Given the description of an element on the screen output the (x, y) to click on. 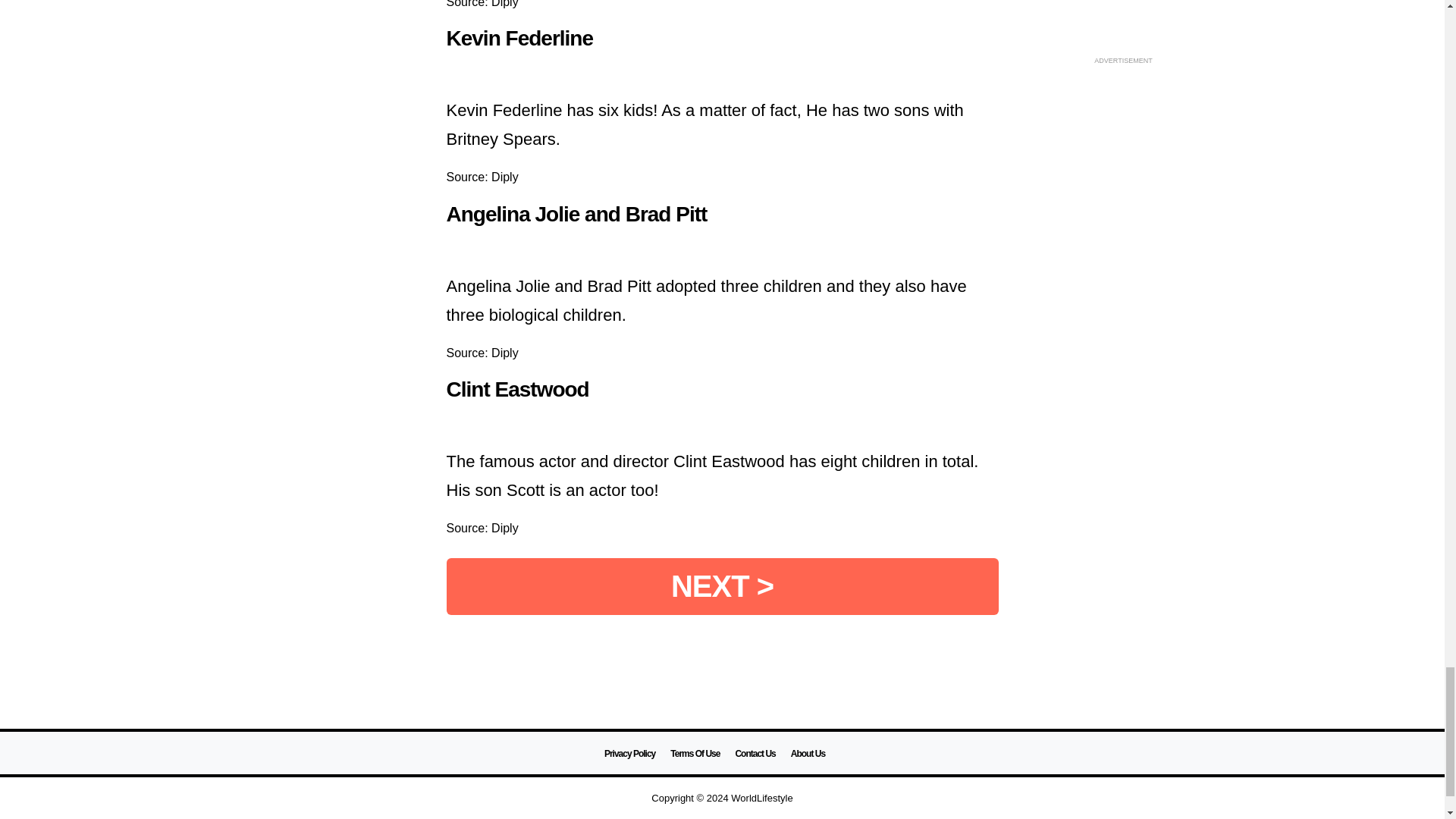
Privacy Policy (629, 753)
About Us (807, 753)
Terms Of Use (694, 753)
Contact Us (754, 753)
